Given the description of an element on the screen output the (x, y) to click on. 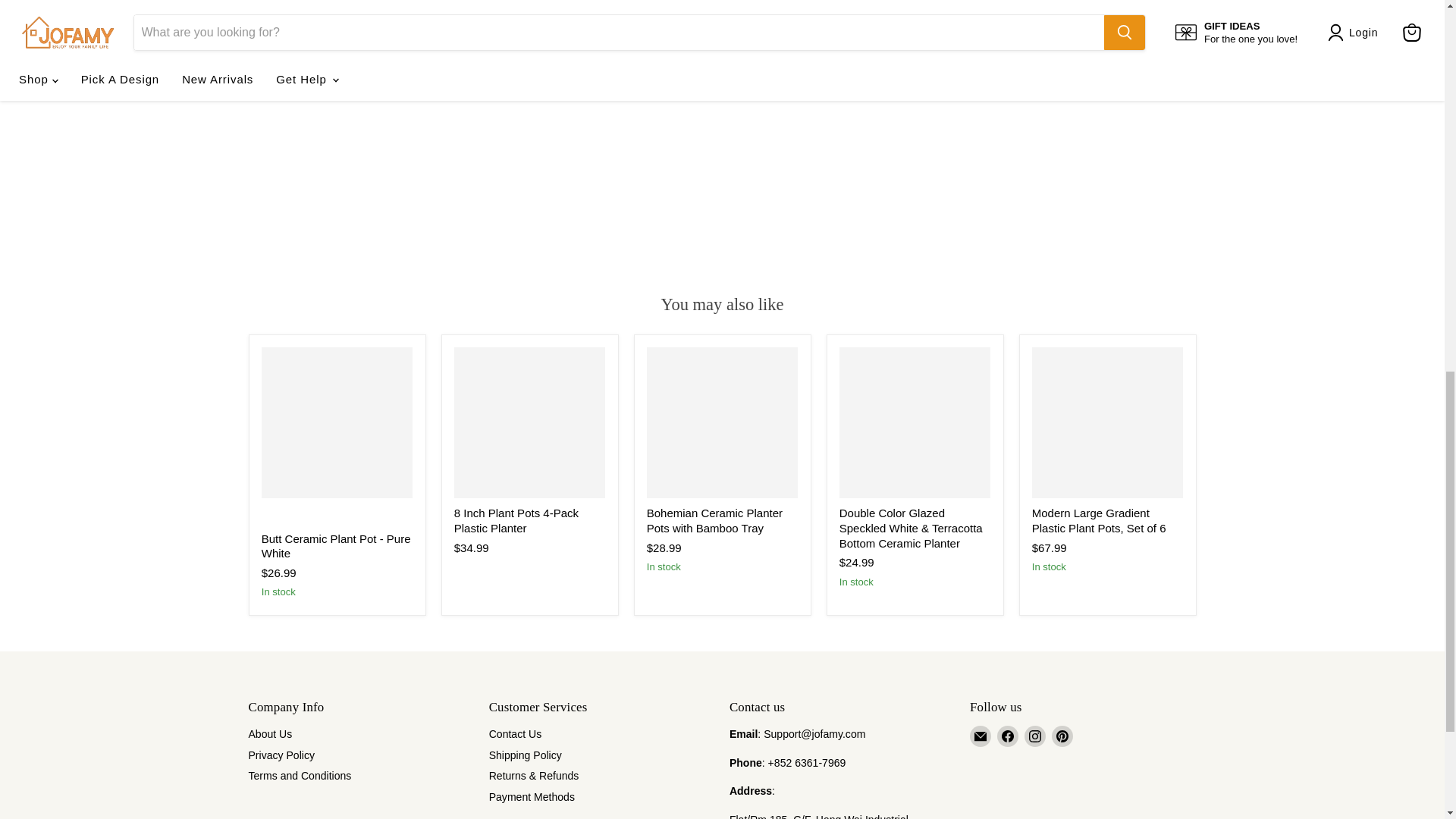
Pinterest (1062, 735)
Facebook (1007, 735)
Instagram (1035, 735)
Email (980, 735)
